Given the description of an element on the screen output the (x, y) to click on. 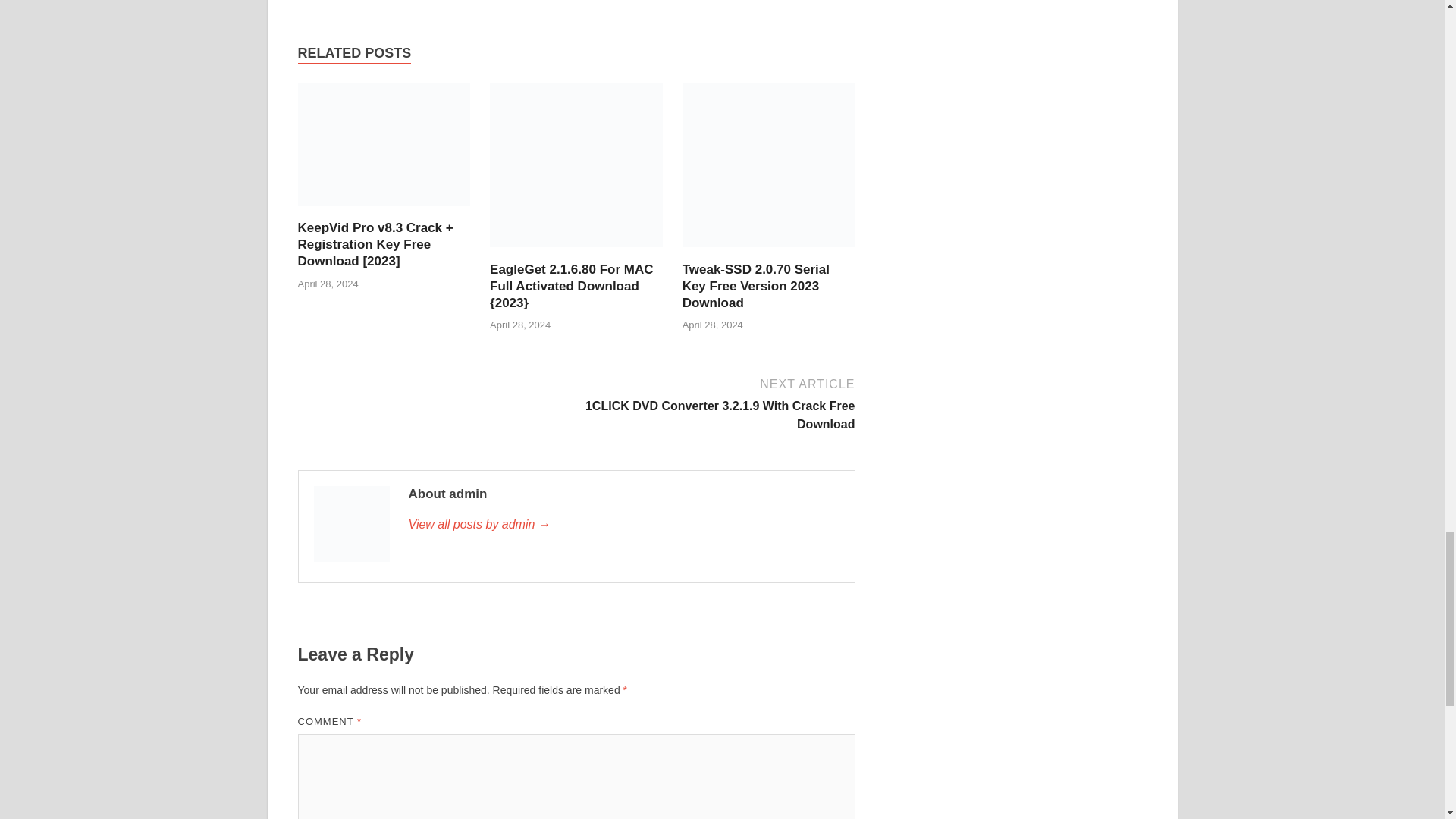
admin (622, 524)
Tweak-SSD 2.0.70 Serial Key Free Version 2023 Download (769, 251)
Tweak-SSD 2.0.70 Serial Key Free Version 2023 Download (755, 286)
